Given the description of an element on the screen output the (x, y) to click on. 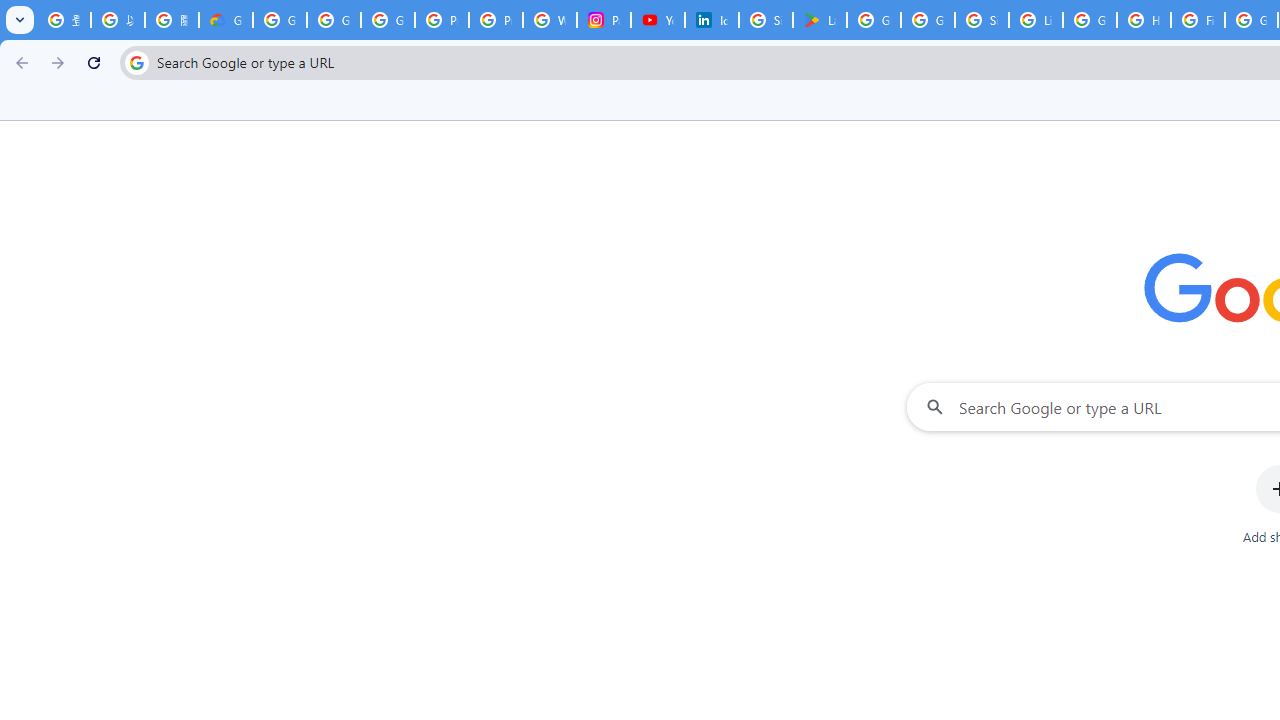
YouTube Culture & Trends - On The Rise: Handcam Videos (657, 20)
Sign in - Google Accounts (981, 20)
How do I create a new Google Account? - Google Account Help (1144, 20)
Privacy Help Center - Policies Help (495, 20)
